Given the description of an element on the screen output the (x, y) to click on. 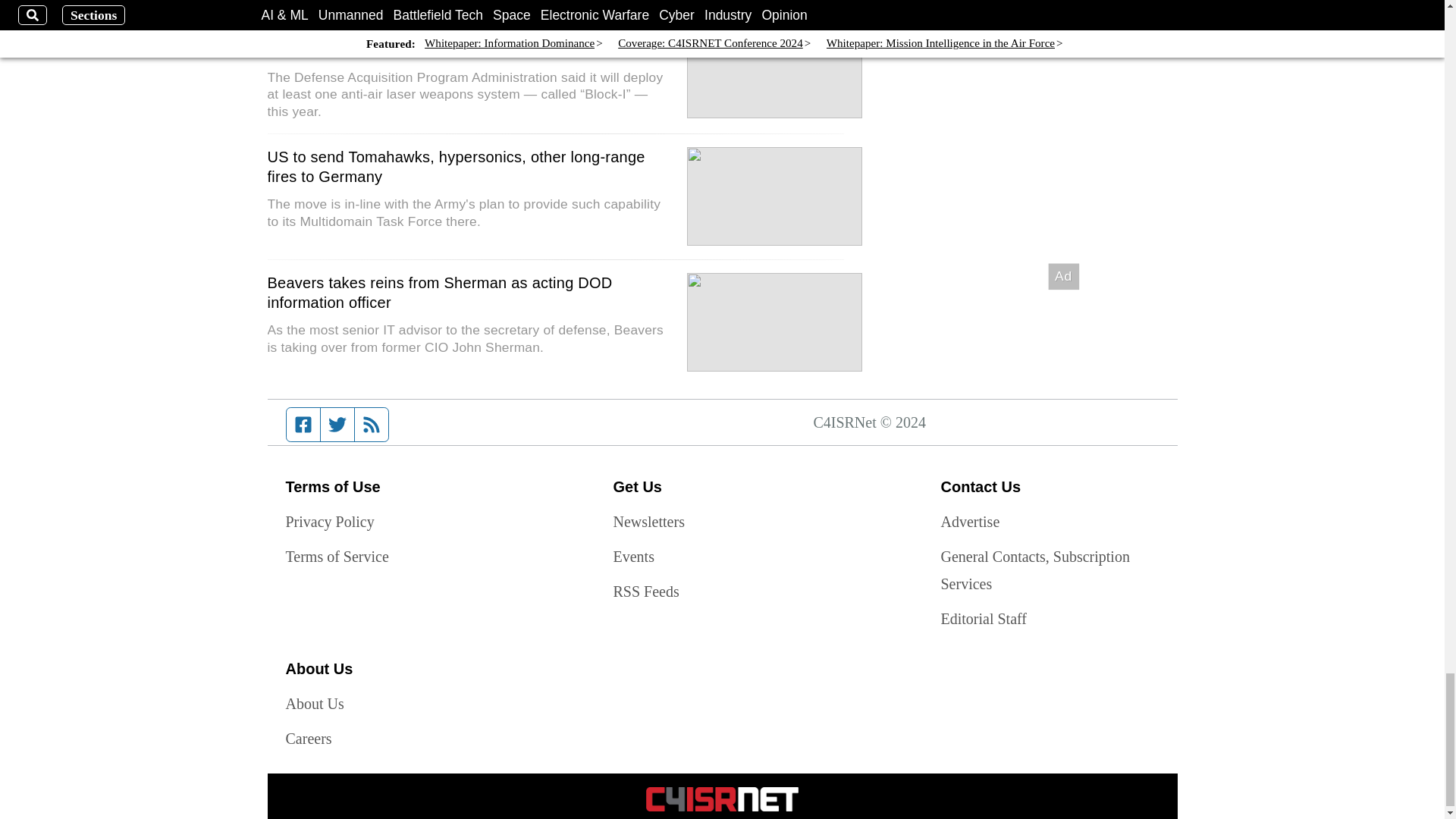
RSS feed (371, 424)
Twitter feed (336, 424)
Facebook page (303, 424)
